Given the description of an element on the screen output the (x, y) to click on. 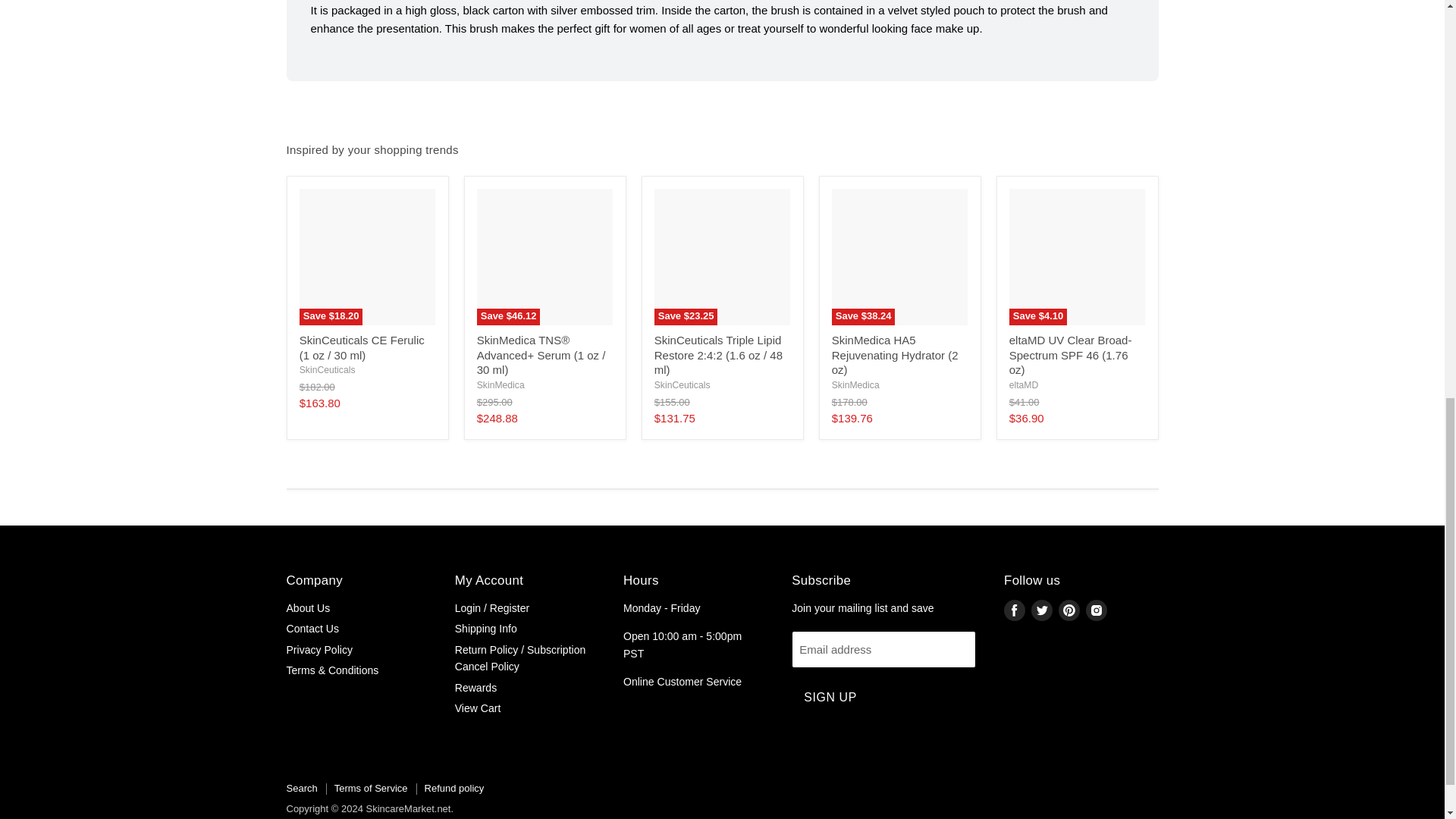
eltaMD (1024, 385)
Twitter (1041, 609)
SkinCeuticals (327, 369)
SkinCeuticals (681, 385)
Instagram (1096, 609)
Pinterest (1069, 609)
Facebook (1014, 609)
SkinMedica (855, 385)
SkinMedica (500, 385)
